Given the description of an element on the screen output the (x, y) to click on. 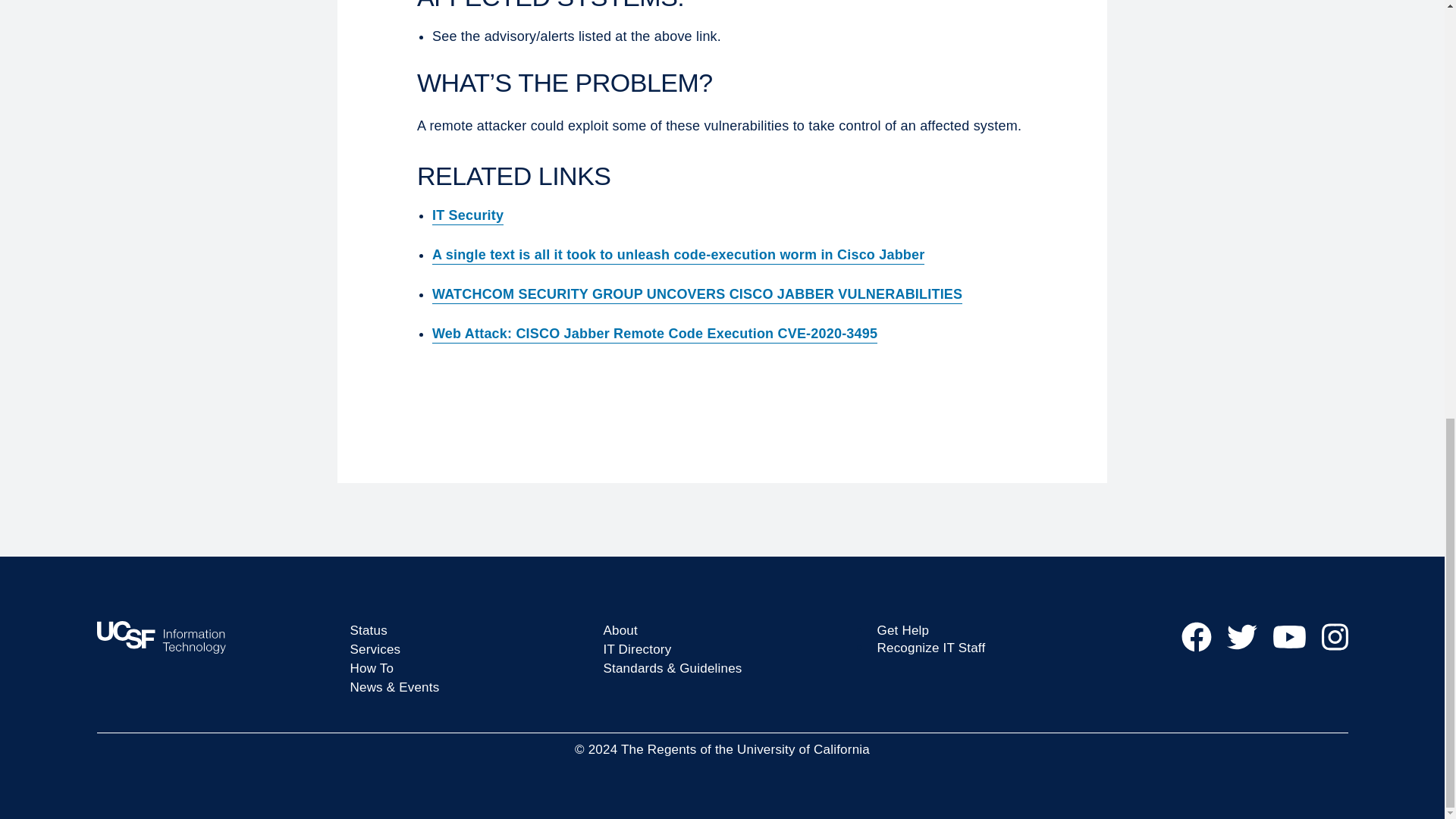
Services (375, 649)
About (620, 630)
Home (215, 636)
Recognize IT Staff (930, 647)
How To (372, 667)
Web Attack: CISCO Jabber Remote Code Execution CVE-2020-3495 (654, 333)
Get Help (902, 630)
IT Security (467, 215)
IT Directory (637, 649)
